Given the description of an element on the screen output the (x, y) to click on. 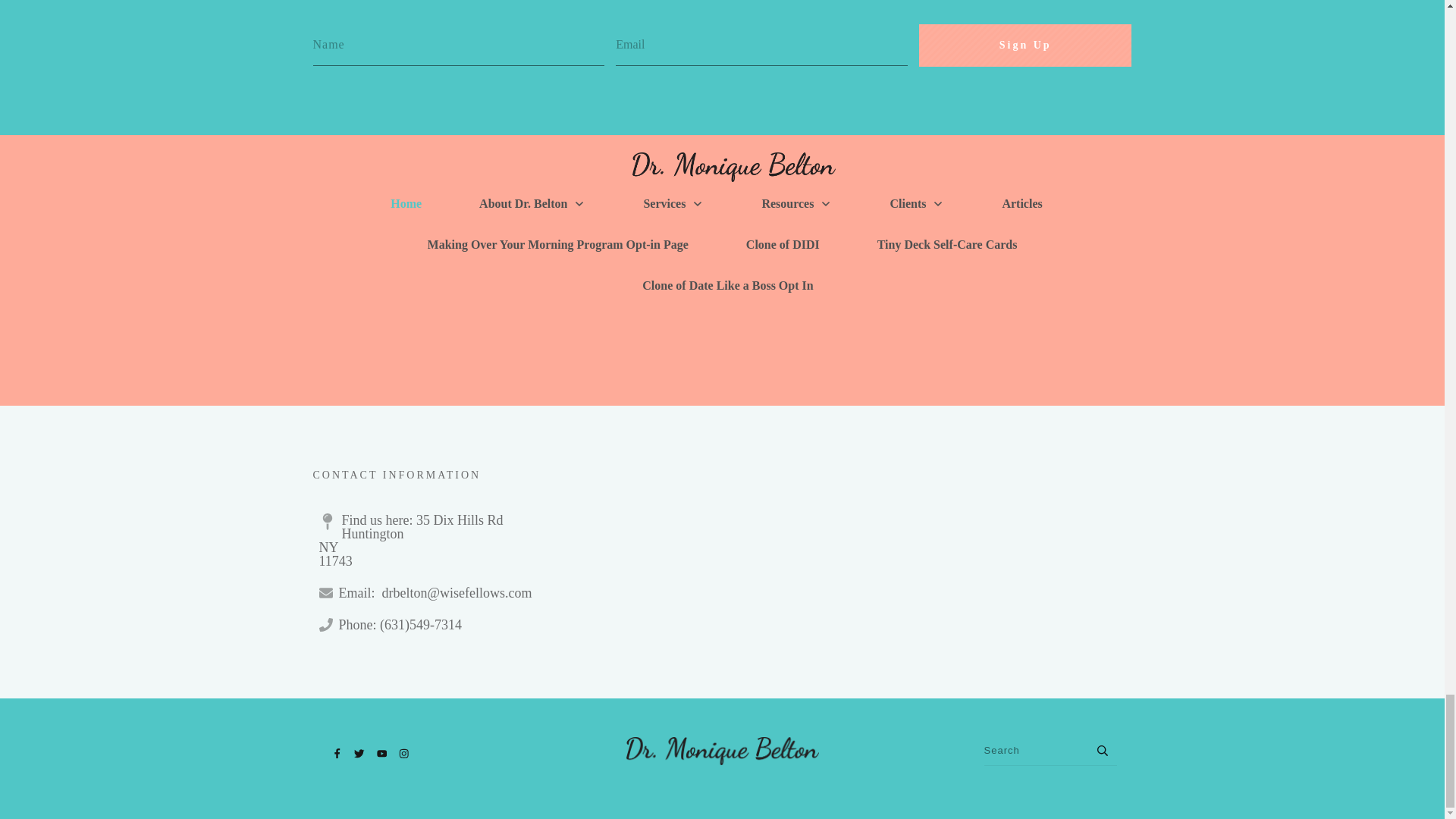
About Dr. Belton (532, 203)
Services (673, 203)
Sign Up (1025, 45)
Home (406, 203)
